Given the description of an element on the screen output the (x, y) to click on. 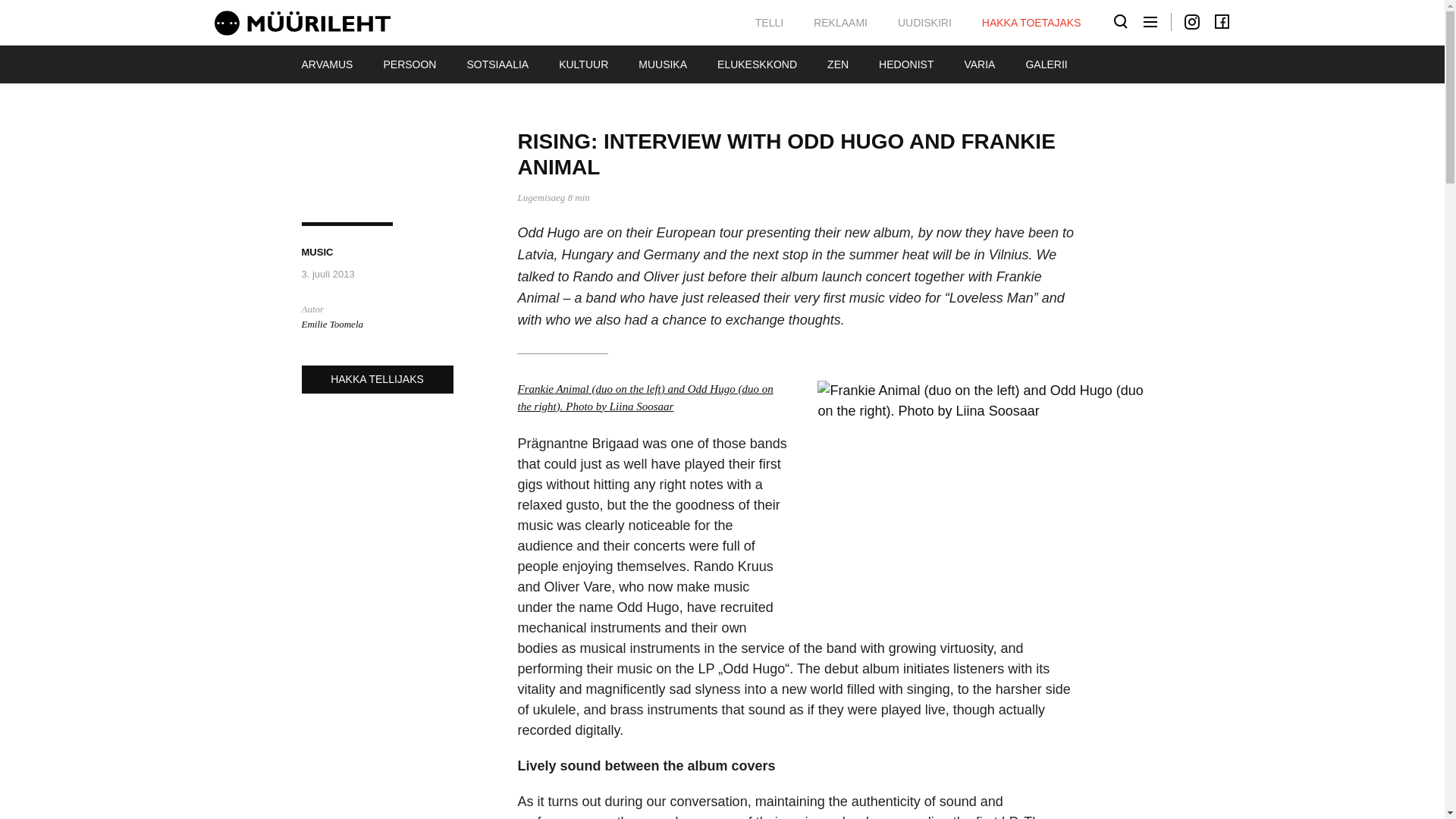
HAKKA TOETAJAKS (1031, 22)
GALERII (1045, 64)
REKLAAMI (840, 22)
ELUKESKKOND (756, 64)
TELLI (769, 22)
Instagram (1191, 22)
PERSOON (409, 64)
Otsi (1120, 22)
MUUSIKA (662, 64)
Facebook (1220, 22)
KULTUUR (583, 64)
SOTSIAALIA (497, 64)
UUDISKIRI (924, 22)
ARVAMUS (327, 64)
ZEN (837, 64)
